Given the description of an element on the screen output the (x, y) to click on. 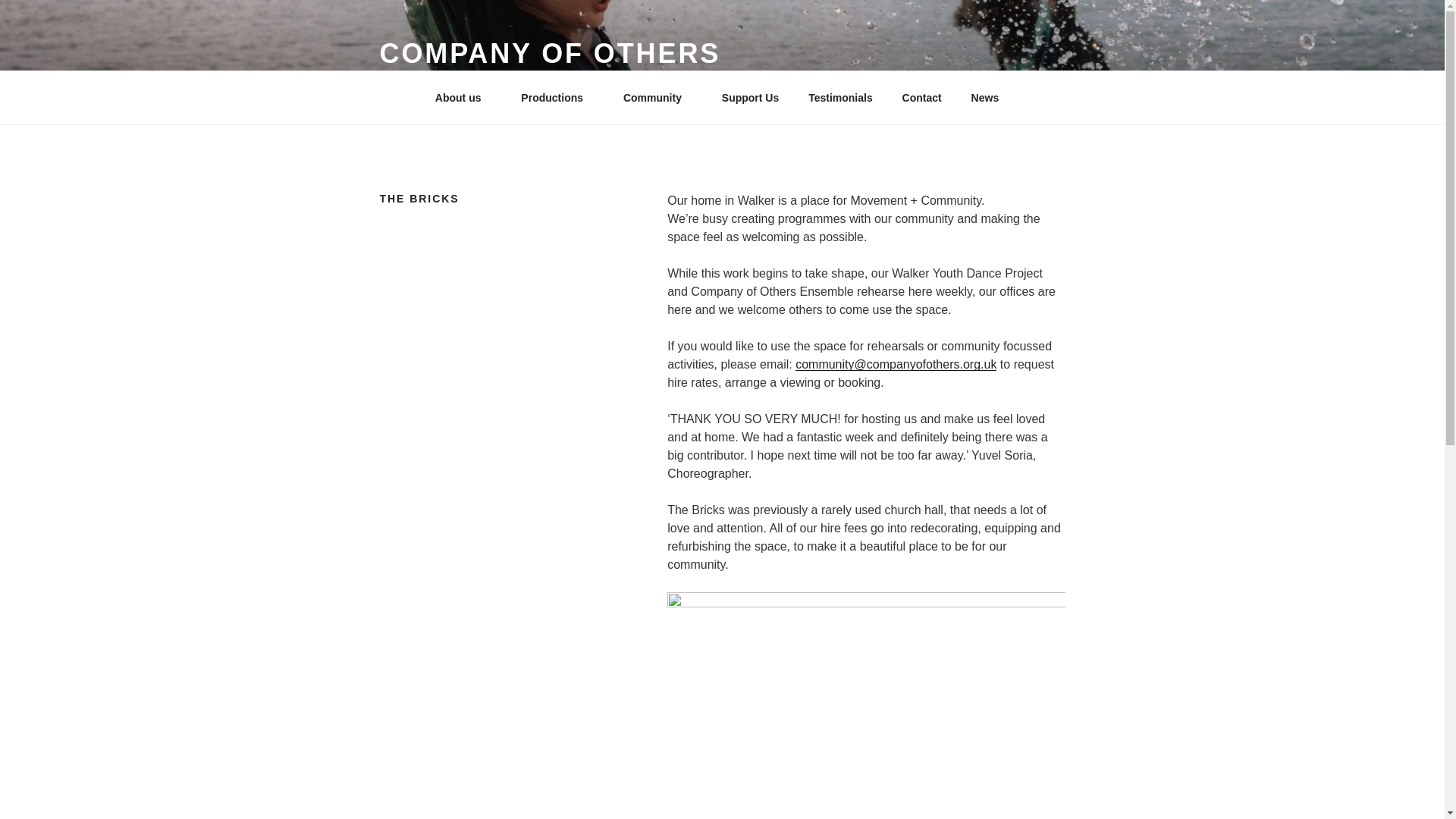
Contact (921, 97)
Testimonials (840, 97)
News (990, 97)
Community (657, 97)
Support Us (749, 97)
About us (463, 97)
COMPANY OF OTHERS (549, 52)
Productions (557, 97)
